Given the description of an element on the screen output the (x, y) to click on. 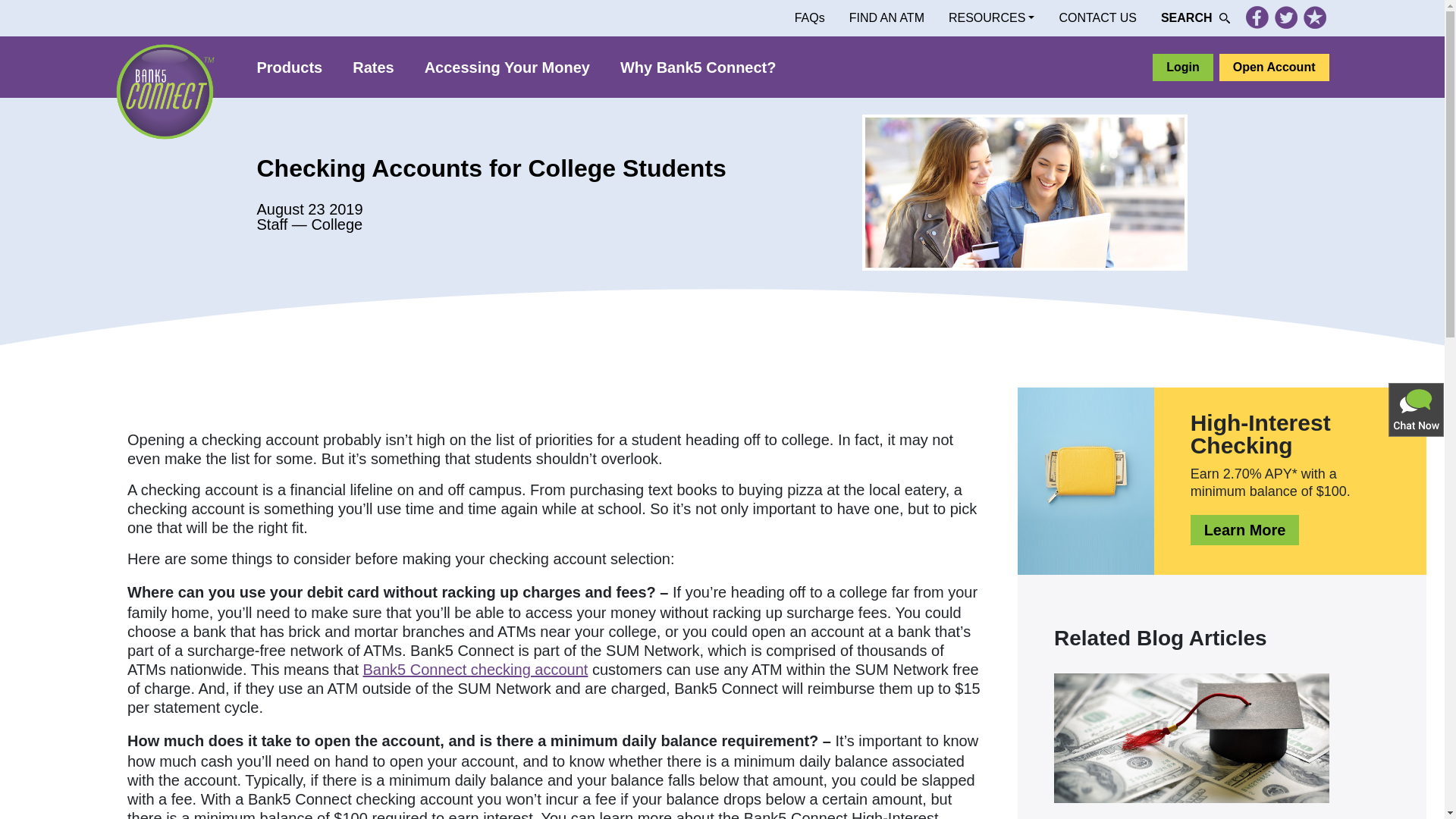
Accessing Your Money (507, 66)
CONTACT US (1097, 18)
FAQs (810, 18)
Rates (373, 66)
SEARCH (1195, 18)
Products (289, 66)
RESOURCES (991, 18)
Open Account (1274, 66)
Login (1182, 66)
Why Bank5 Connect? (698, 66)
FIND AN ATM (886, 18)
